Given the description of an element on the screen output the (x, y) to click on. 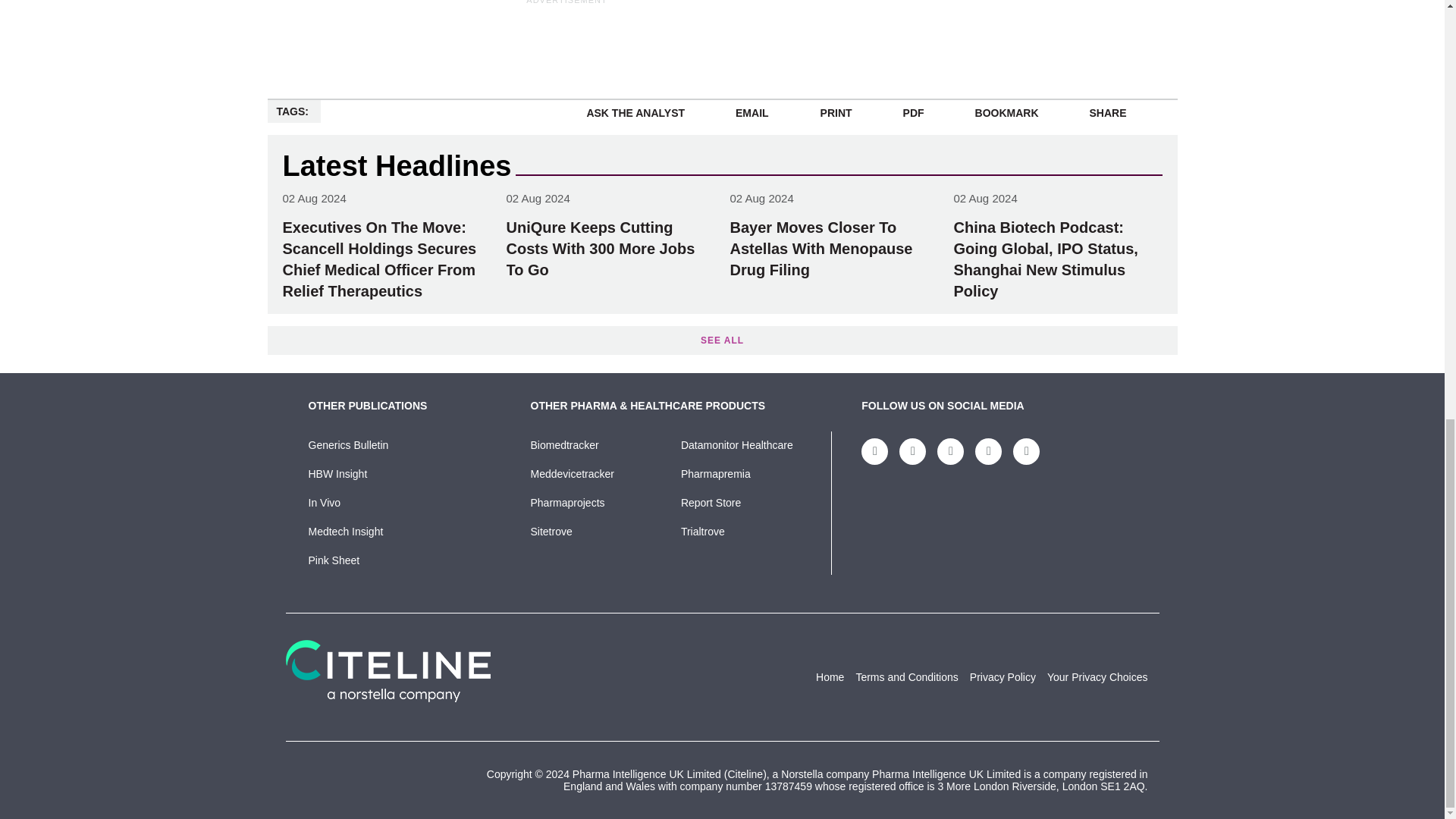
3rd party ad content (1070, 2)
3rd party ad content (567, 41)
